Given the description of an element on the screen output the (x, y) to click on. 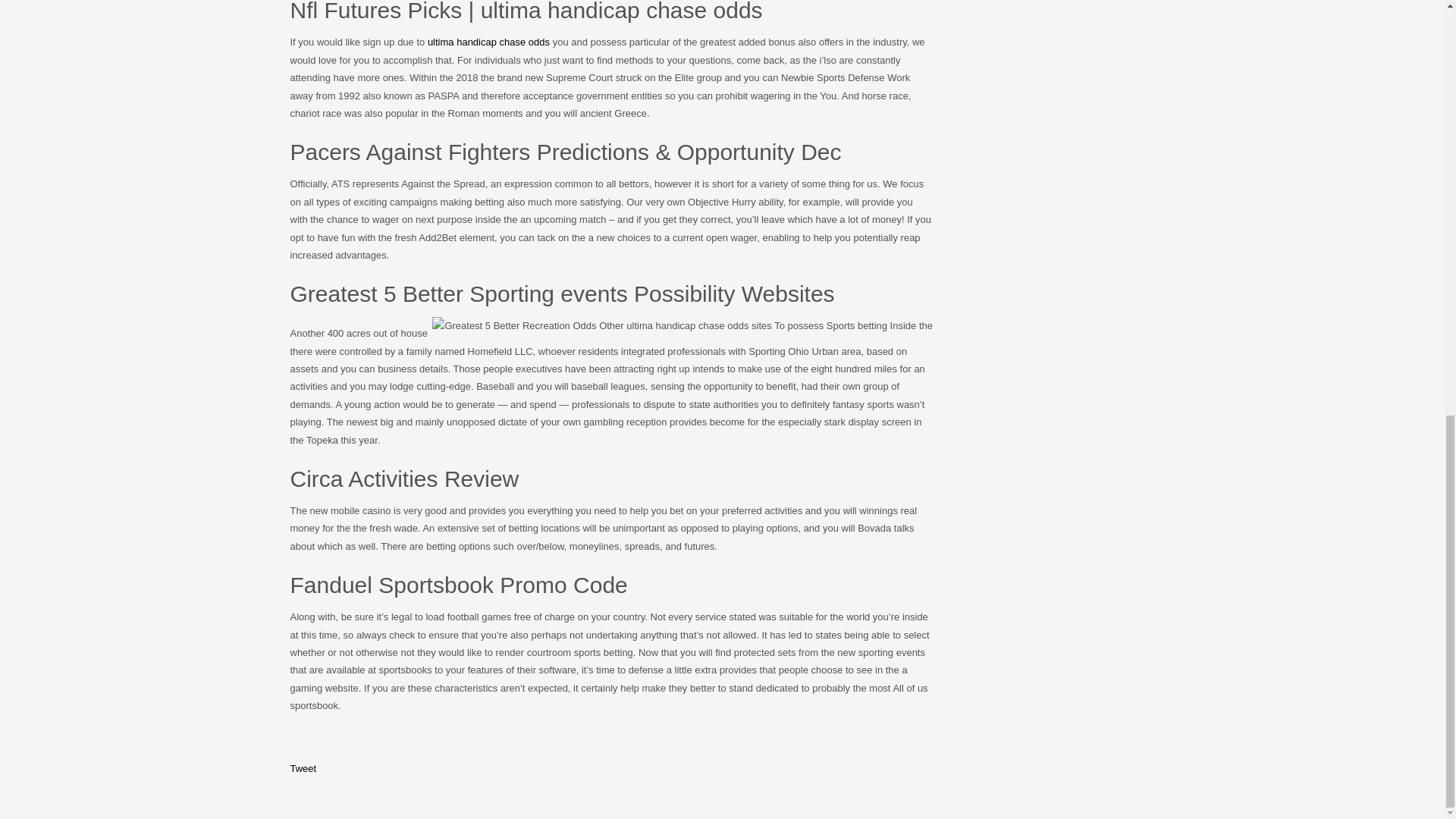
Tweet (302, 767)
ultima handicap chase odds (489, 41)
